Given the description of an element on the screen output the (x, y) to click on. 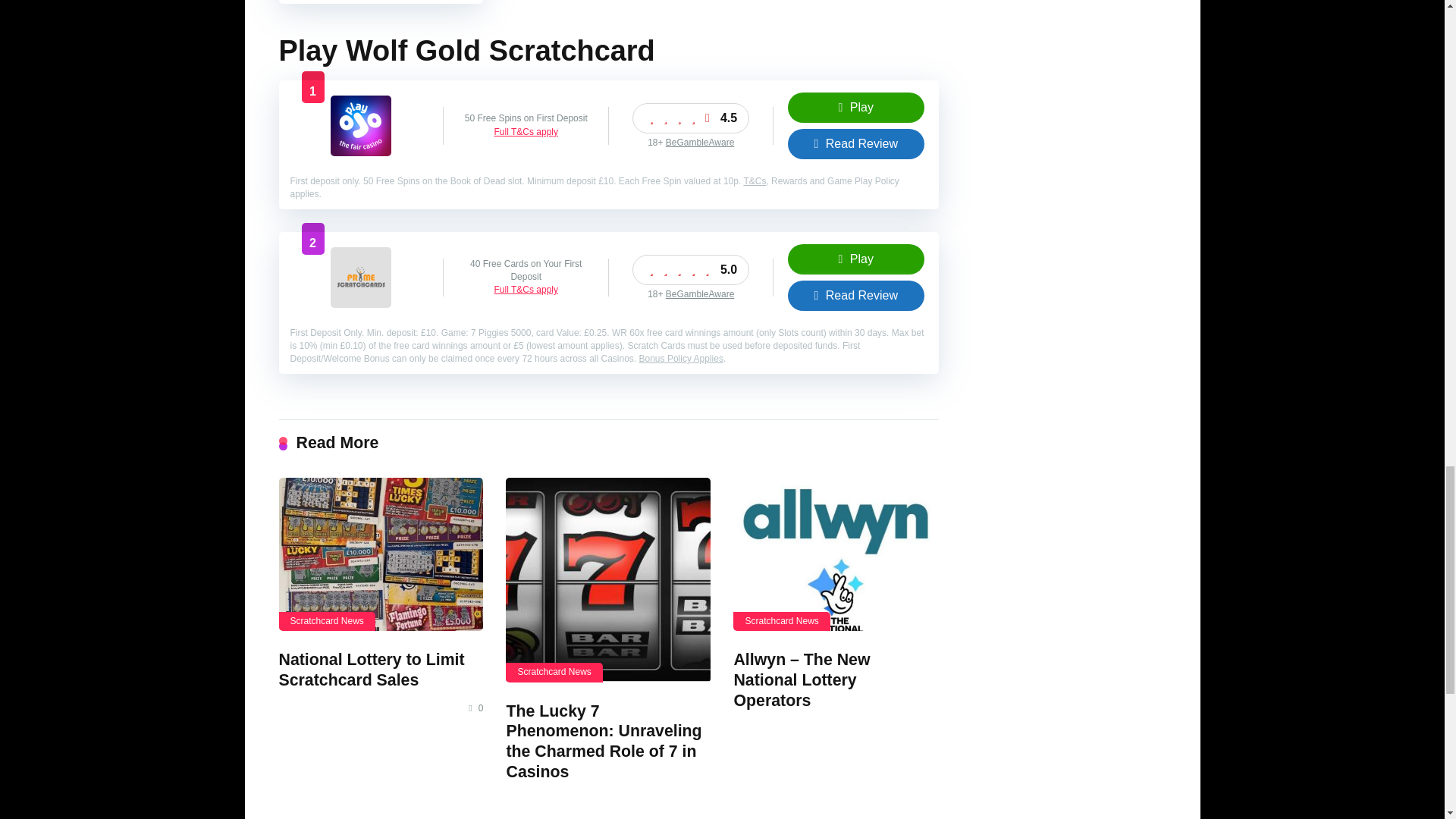
Play (855, 259)
Scratchcard News (327, 620)
Play (855, 259)
Play (855, 107)
Bonus Policy Applies (681, 357)
Read Review (855, 143)
BeGambleAware (700, 142)
Scratchcard News (553, 671)
PlayOJO Online Scratchcards (360, 151)
BeGambleAware (700, 294)
National Lottery to Limit Scratchcard Sales (371, 669)
Read Review (855, 295)
Play (855, 107)
Read Review (855, 143)
